Given the description of an element on the screen output the (x, y) to click on. 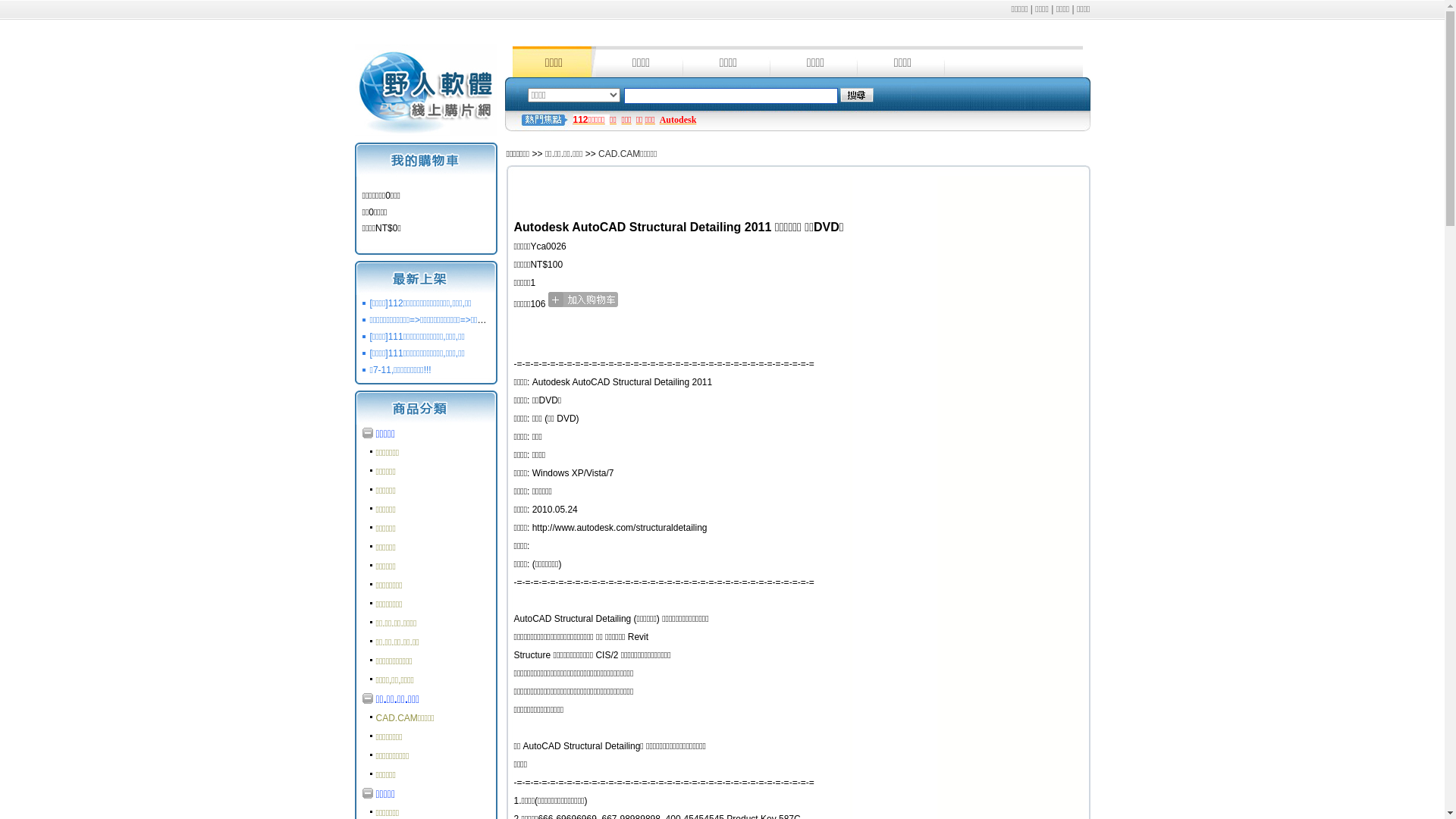
Autodesk Element type: text (677, 119)
GO Element type: text (856, 94)
